Given the description of an element on the screen output the (x, y) to click on. 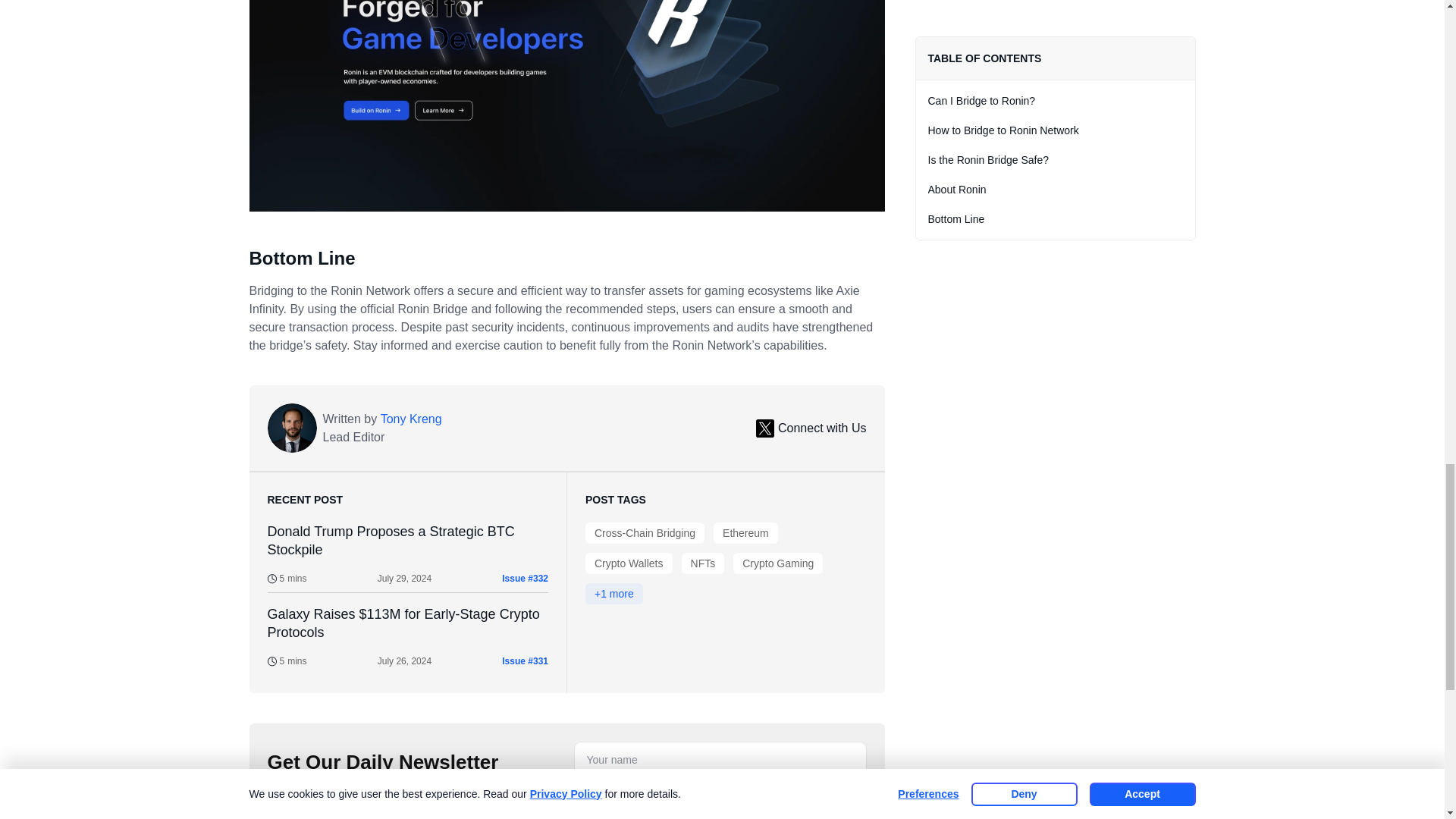
Tony Kreng (411, 419)
